Given the description of an element on the screen output the (x, y) to click on. 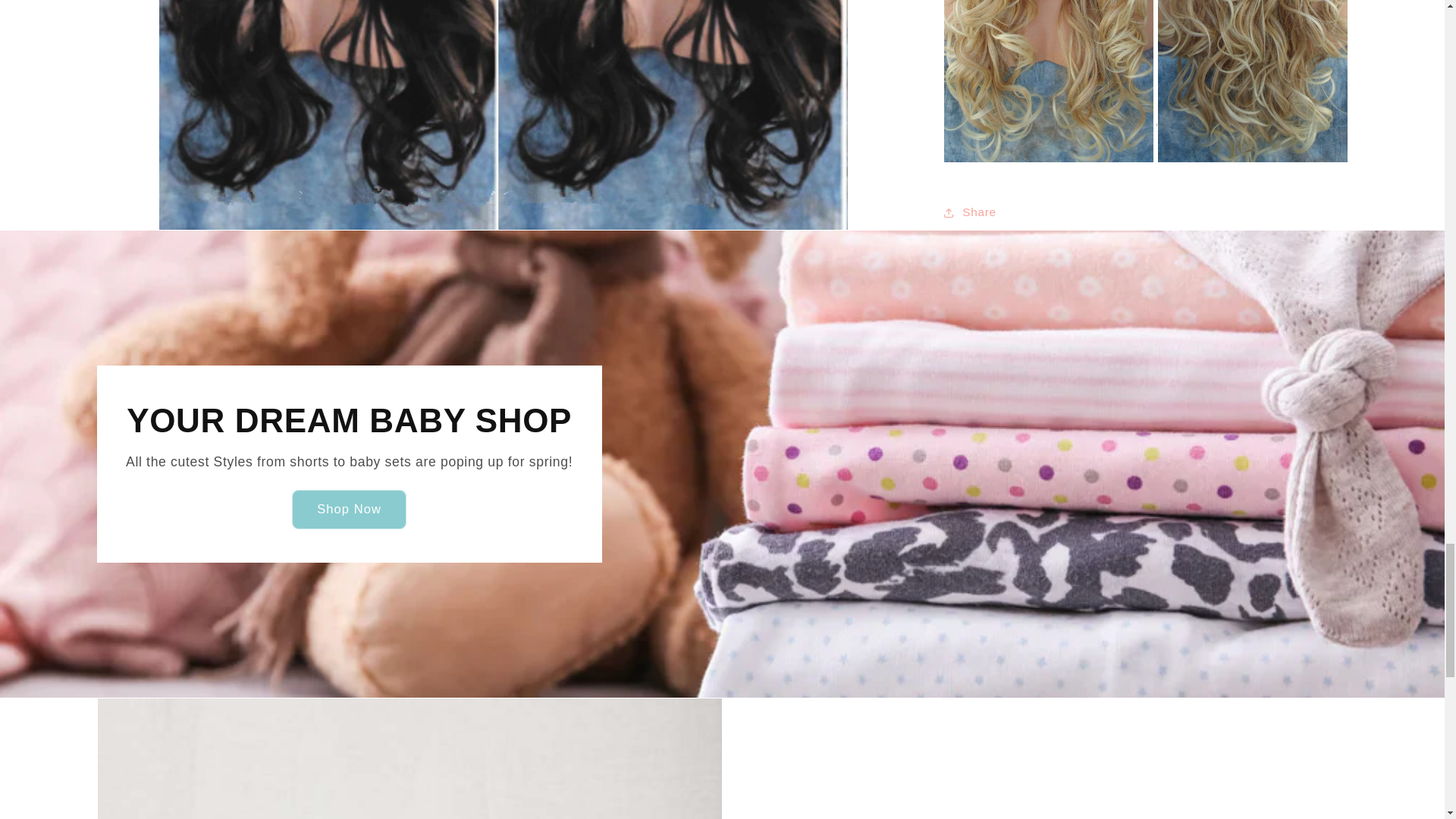
Shop Now (349, 509)
